Given the description of an element on the screen output the (x, y) to click on. 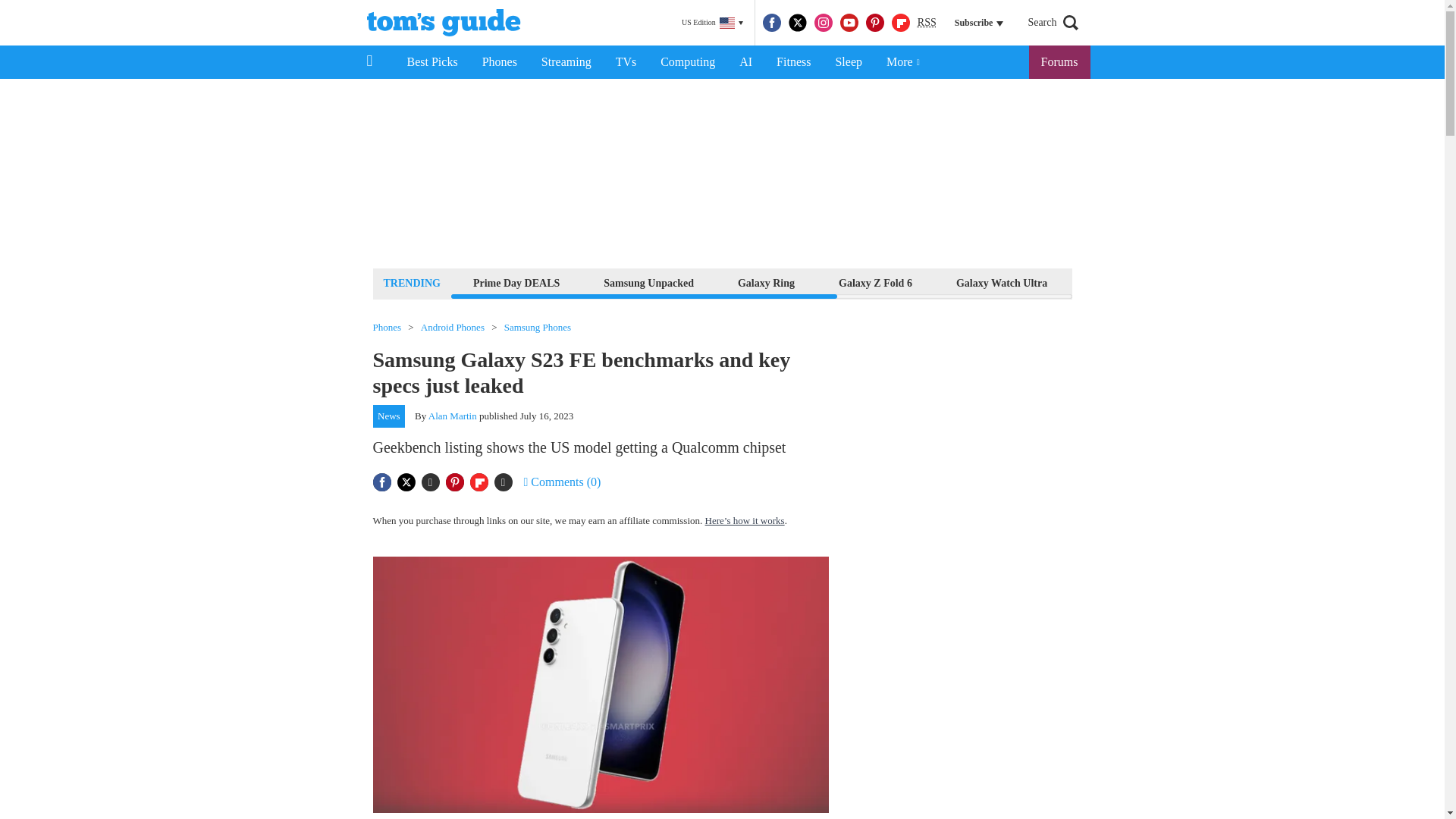
Sleep (848, 61)
Streaming (566, 61)
Phones (499, 61)
AI (745, 61)
TVs (626, 61)
Computing (686, 61)
Really Simple Syndication (926, 21)
Best Picks (431, 61)
Fitness (793, 61)
US Edition (712, 22)
RSS (926, 22)
